Given the description of an element on the screen output the (x, y) to click on. 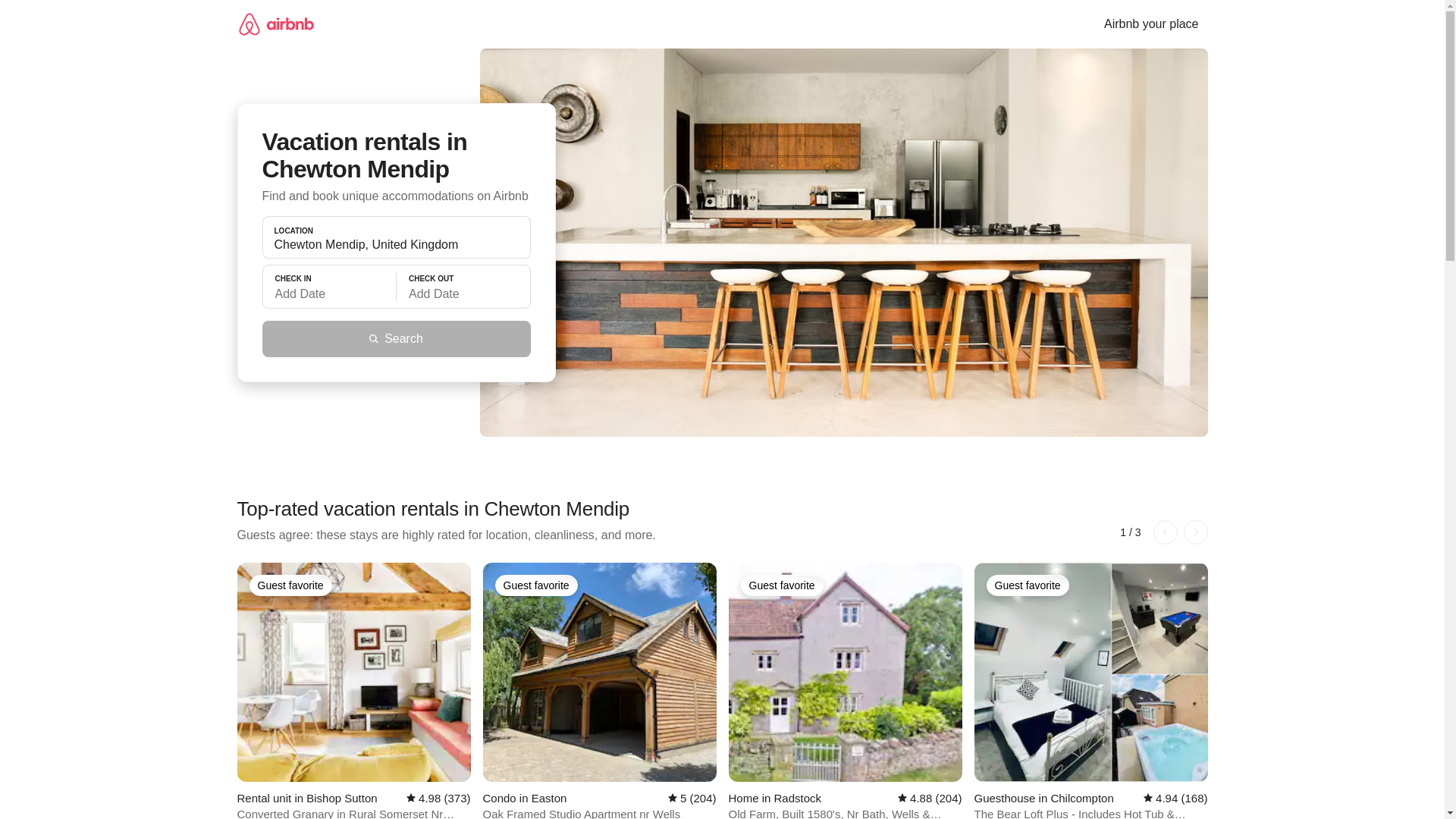
Airbnb your place (1151, 23)
Search (396, 339)
Chewton Mendip, United Kingdom (396, 244)
